Given the description of an element on the screen output the (x, y) to click on. 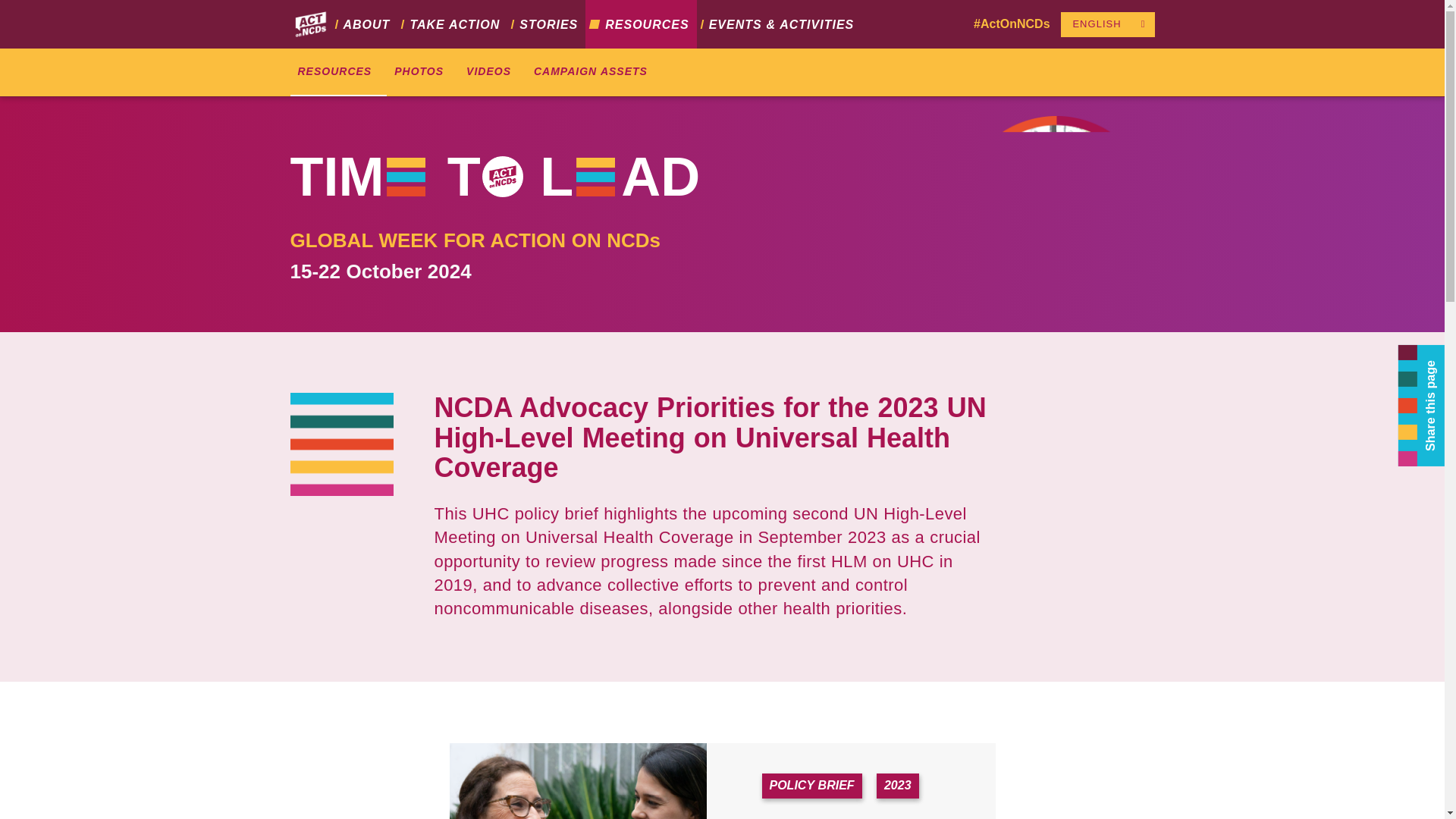
CAMPAIGN ASSETS (593, 72)
ABOUT (363, 24)
ENGLISH (1096, 24)
VIDEOS (491, 72)
RESOURCES (338, 72)
RESOURCES (640, 24)
PHOTOS (422, 72)
Home (309, 24)
STORIES (545, 24)
TAKE ACTION (451, 24)
